Given the description of an element on the screen output the (x, y) to click on. 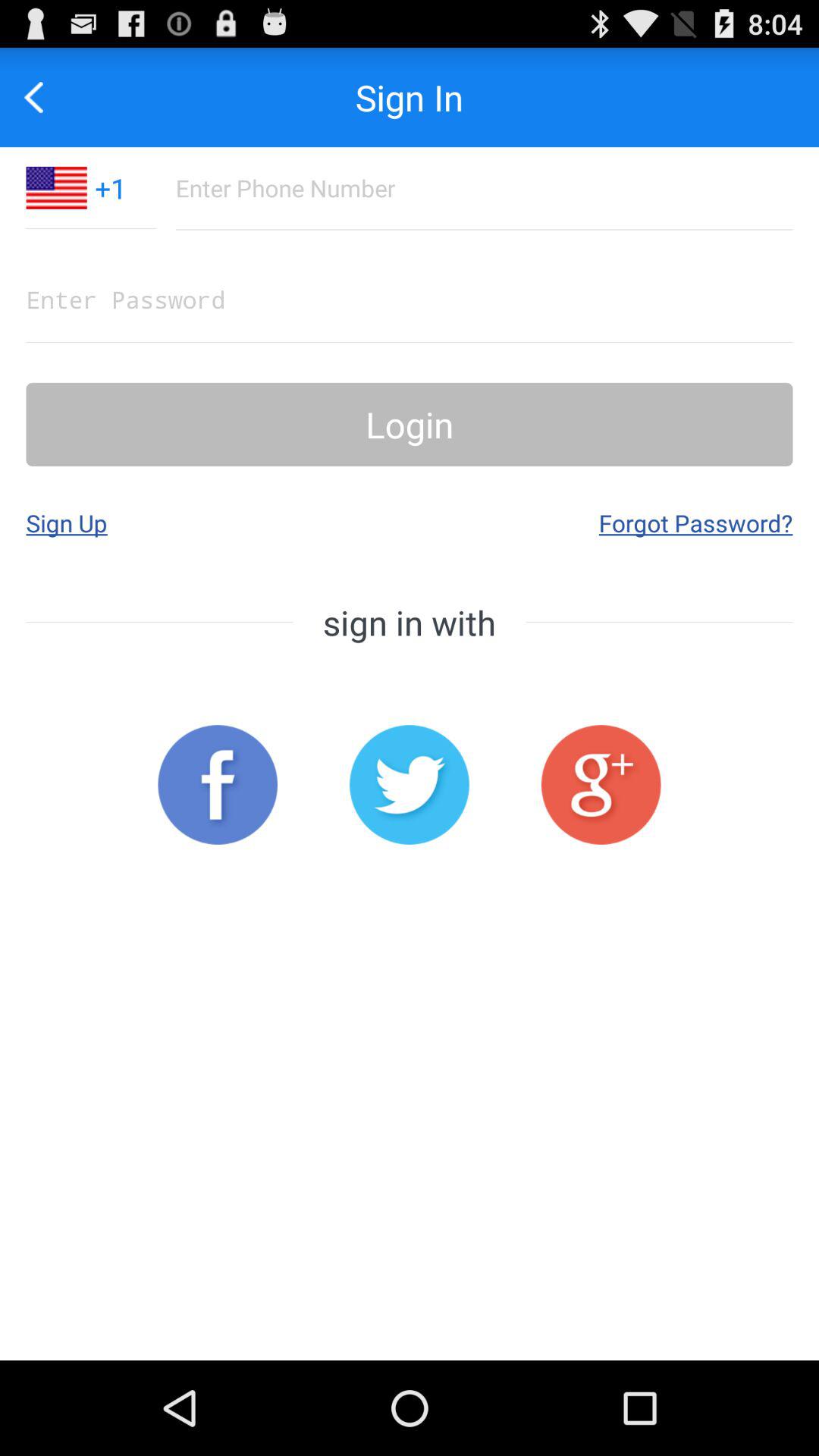
share on google plus (600, 784)
